Given the description of an element on the screen output the (x, y) to click on. 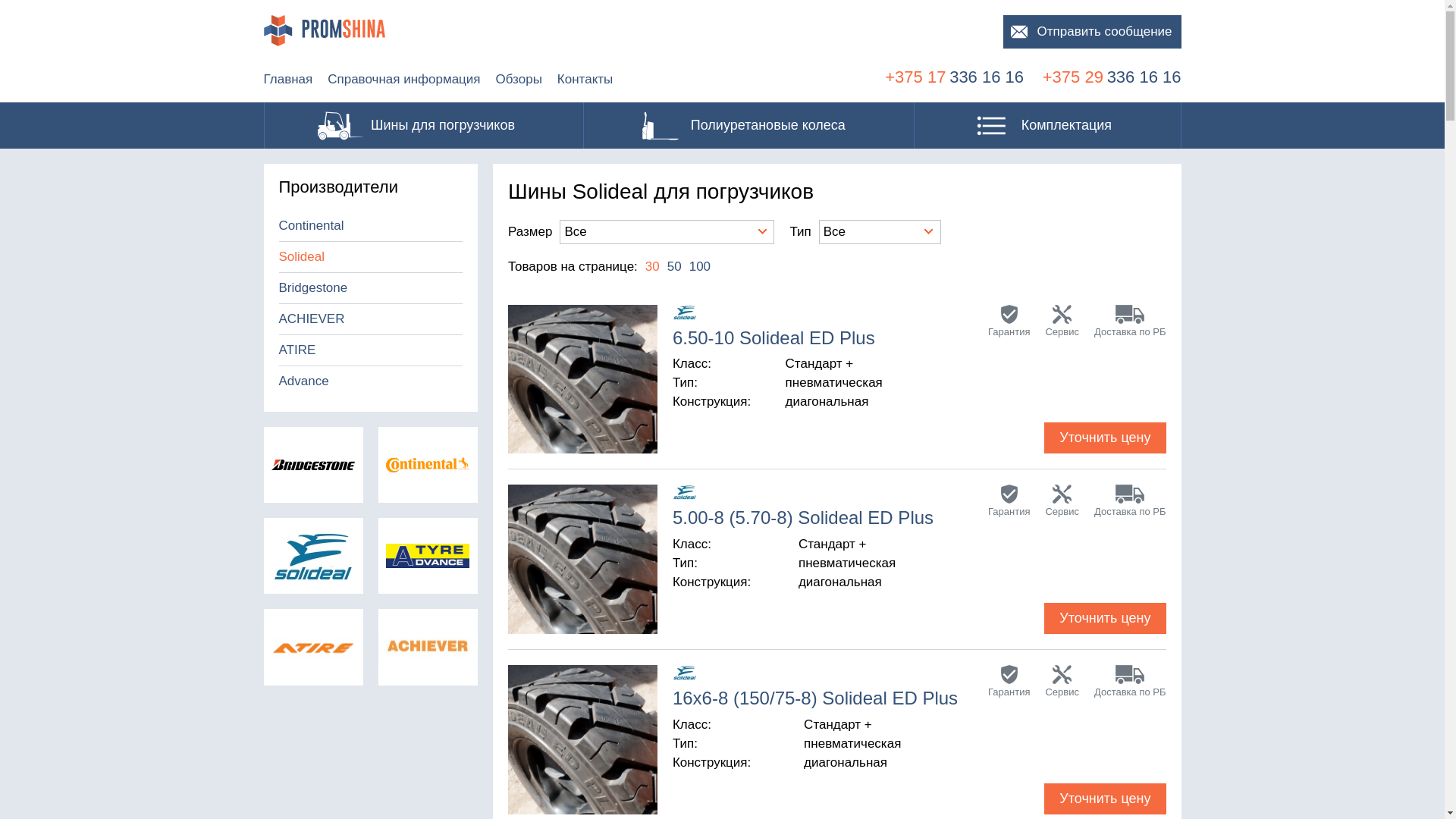
30 Element type: text (652, 266)
Bridgestone Element type: text (371, 288)
ATIRE Element type: text (371, 350)
Apply Element type: text (32, 15)
Solideal Element type: text (371, 256)
100 Element type: text (699, 266)
ACHIEVER Element type: text (371, 319)
50 Element type: text (674, 266)
5.00-8 (5.70-8) Solideal ED Plus Element type: text (812, 519)
6.50-10 Solideal ED Plus Element type: text (797, 339)
Continental Element type: text (371, 225)
Advance Element type: text (371, 381)
